Given the description of an element on the screen output the (x, y) to click on. 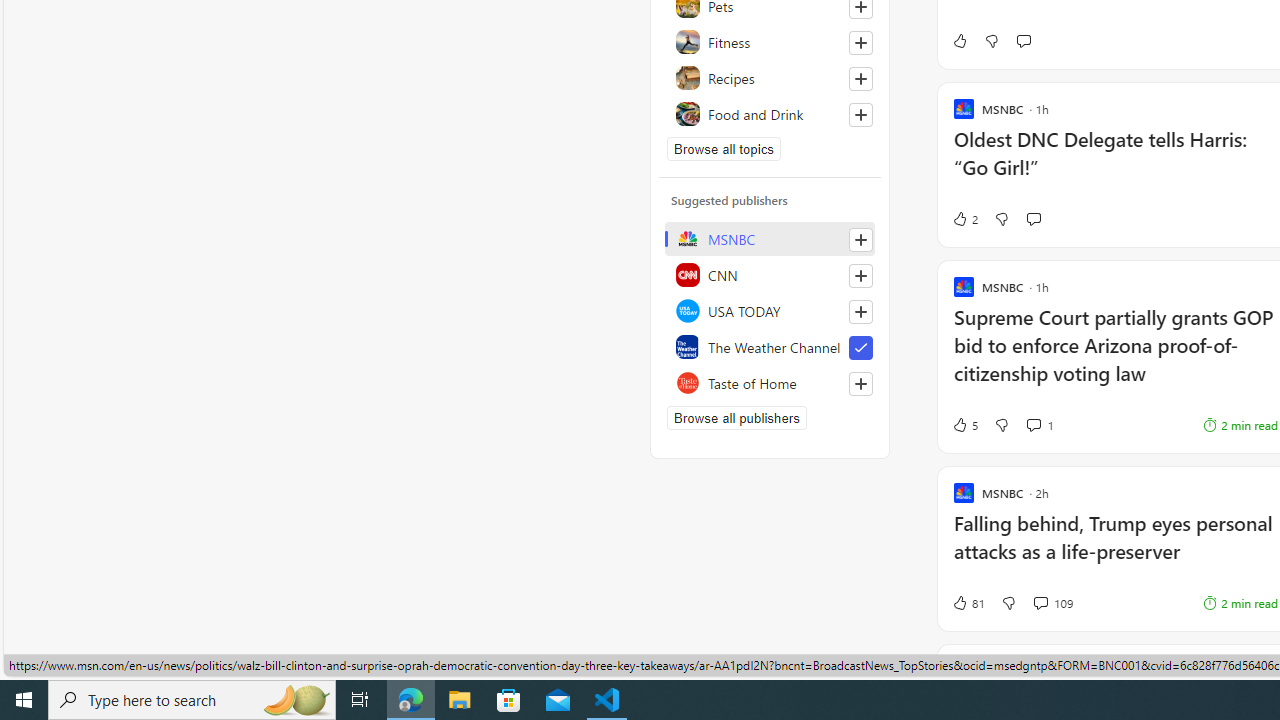
Follow this source (860, 384)
Food and Drink (770, 114)
81 Like (968, 602)
View comments 109 Comment (1040, 602)
5 Like (964, 425)
View comments 109 Comment (1052, 602)
Taste of Home (770, 382)
USA TODAY (770, 310)
Recipes (770, 78)
Browse all publishers (736, 417)
